Given the description of an element on the screen output the (x, y) to click on. 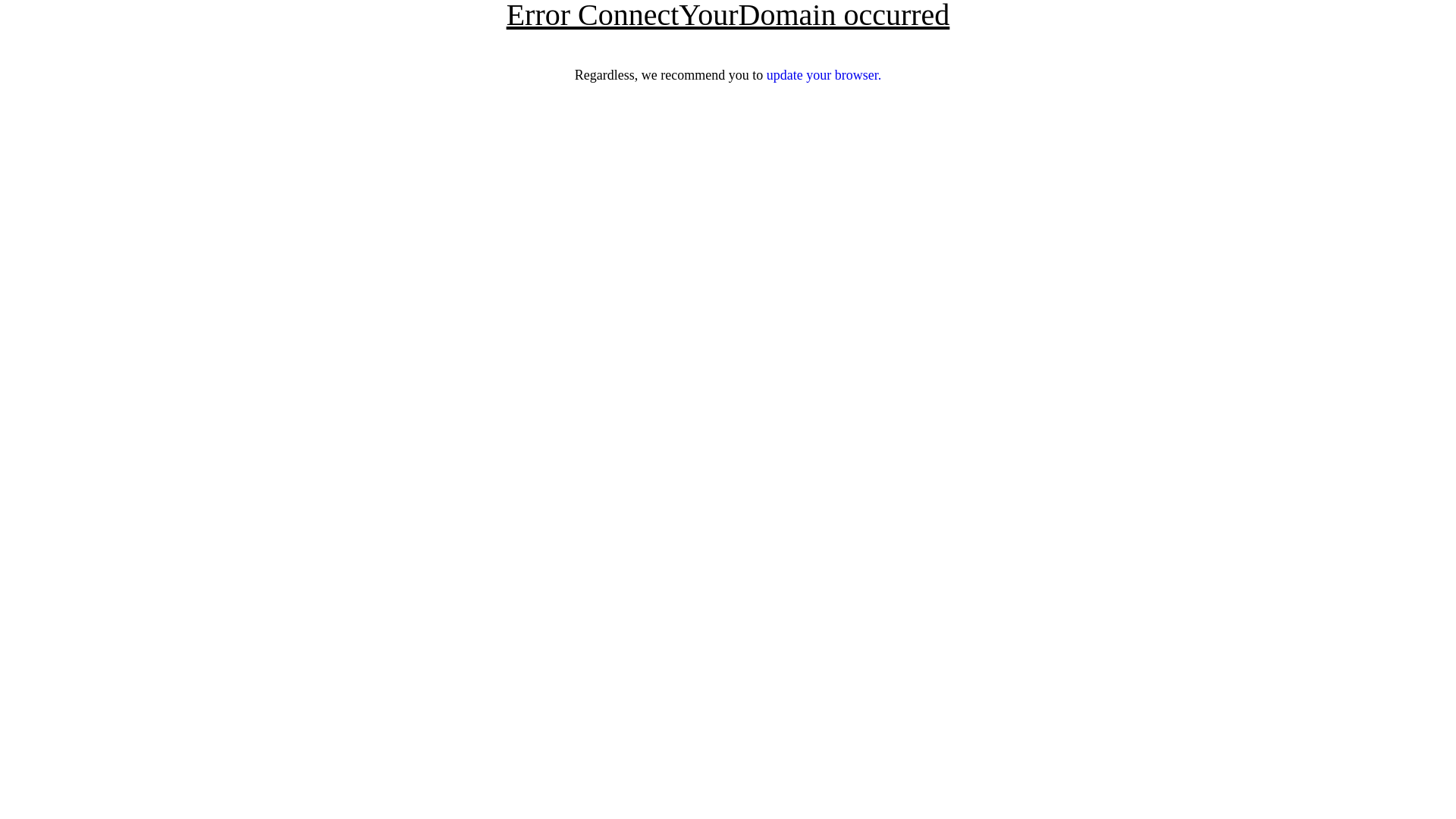
update your browser. Element type: text (823, 74)
